Given the description of an element on the screen output the (x, y) to click on. 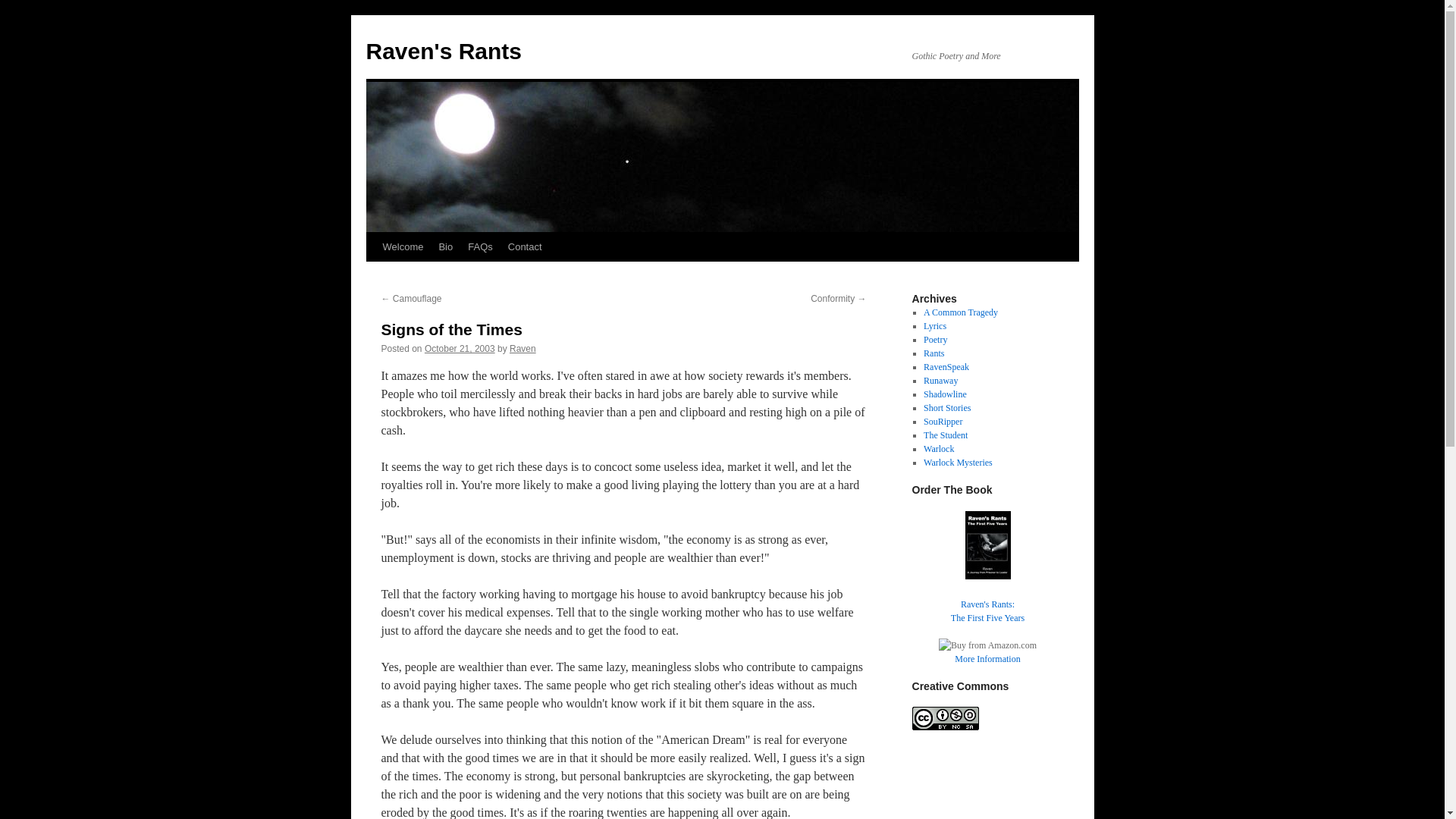
9:09 am (987, 597)
Poetry (460, 348)
Lyrics (935, 339)
SouRipper (934, 326)
Short Stories (942, 421)
RavenSpeak (947, 407)
FAQs (946, 366)
A Common Tragedy (480, 246)
Shadowline (960, 312)
